Given the description of an element on the screen output the (x, y) to click on. 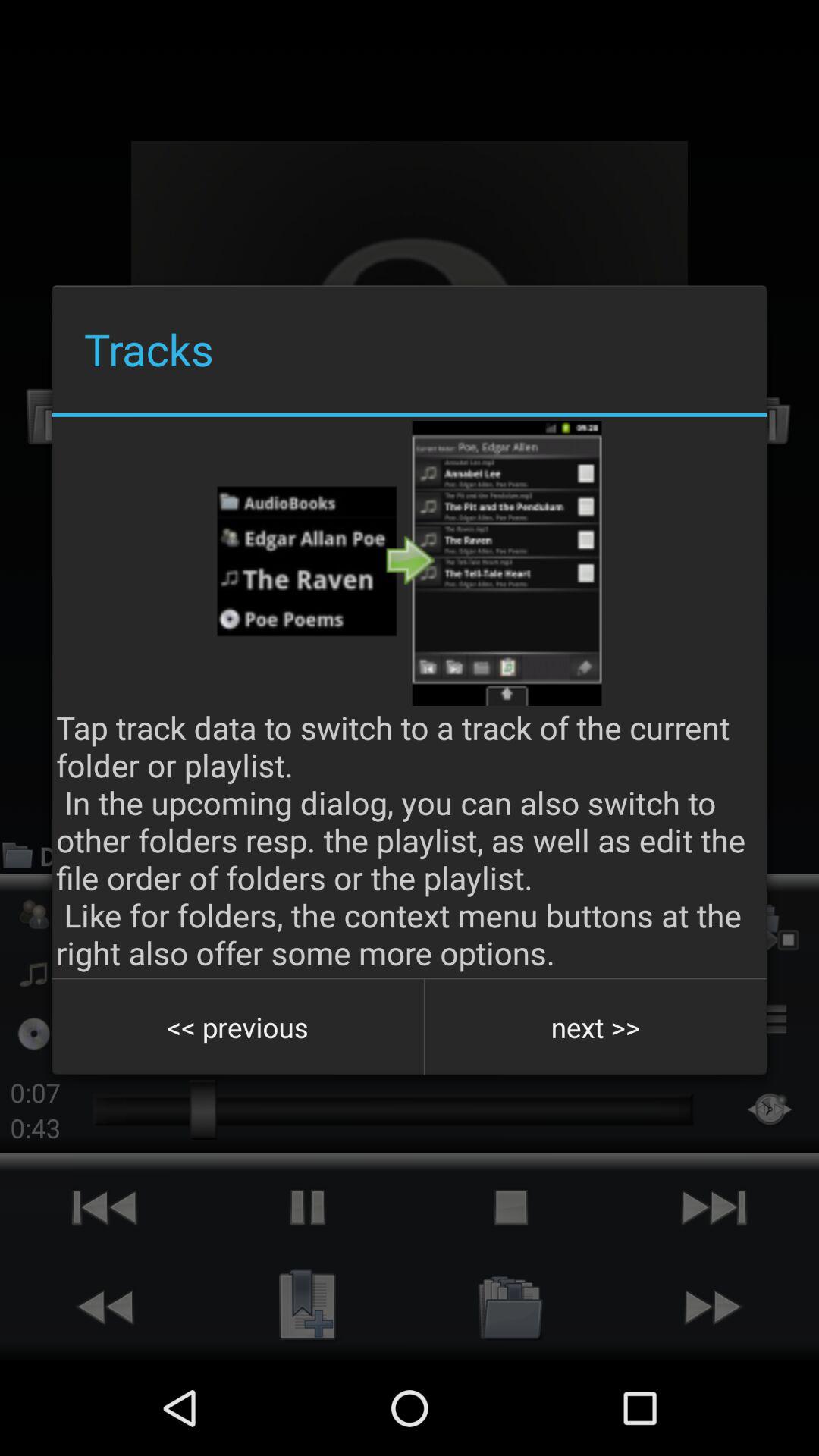
select button at the bottom left corner (237, 1026)
